Given the description of an element on the screen output the (x, y) to click on. 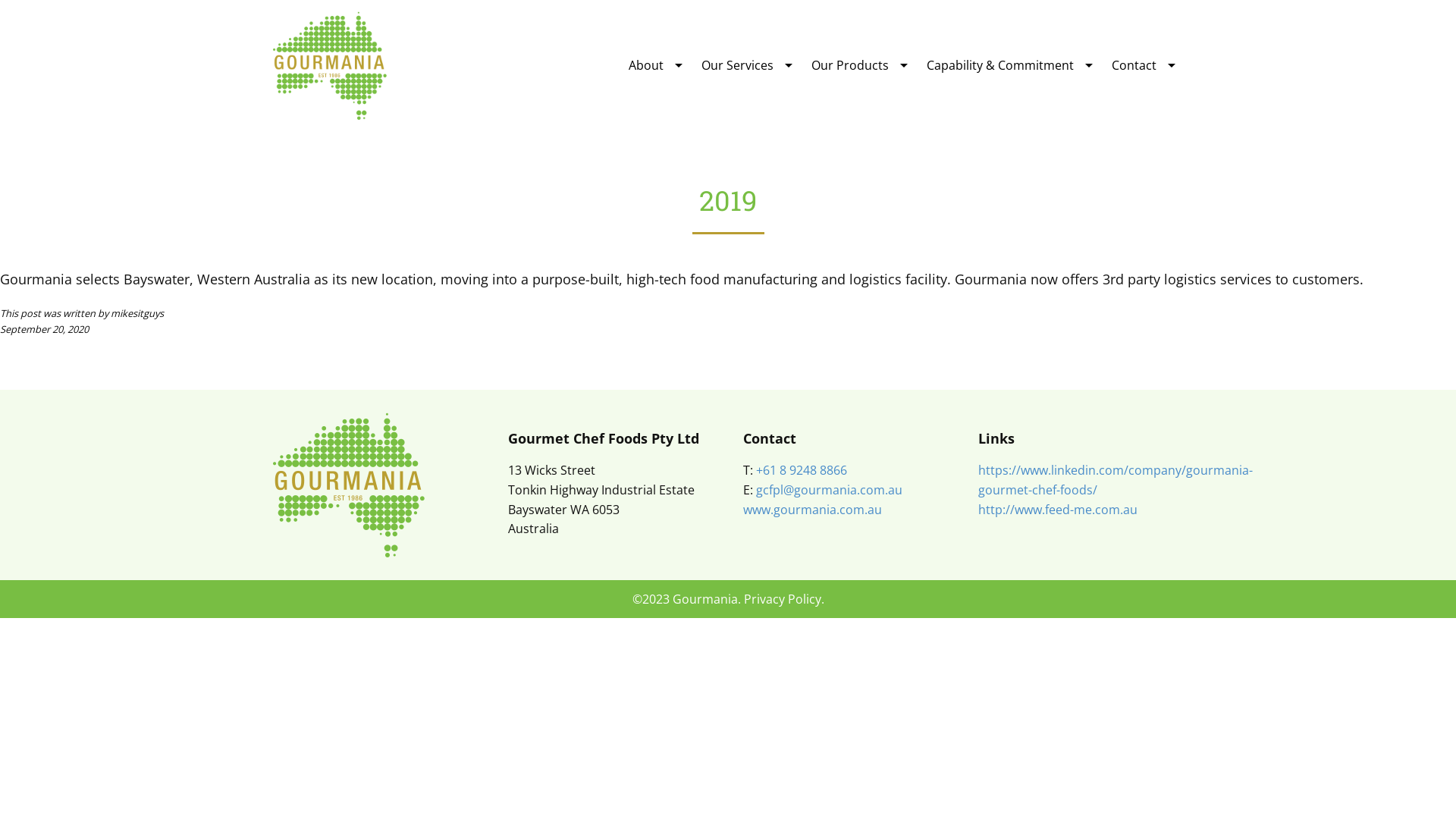
Privacy Policy Element type: text (781, 598)
gcfpl@gourmania.com.au Element type: text (829, 489)
Capability & Commitment Element type: text (999, 64)
http://www.feed-me.com.au Element type: text (1057, 509)
Our Products Element type: text (849, 64)
+61 8 9248 8866 Element type: text (801, 469)
Contact Element type: text (1133, 64)
www.gourmania.com.au Element type: text (812, 509)
About Element type: text (645, 64)
Our Services Element type: text (737, 64)
